Given the description of an element on the screen output the (x, y) to click on. 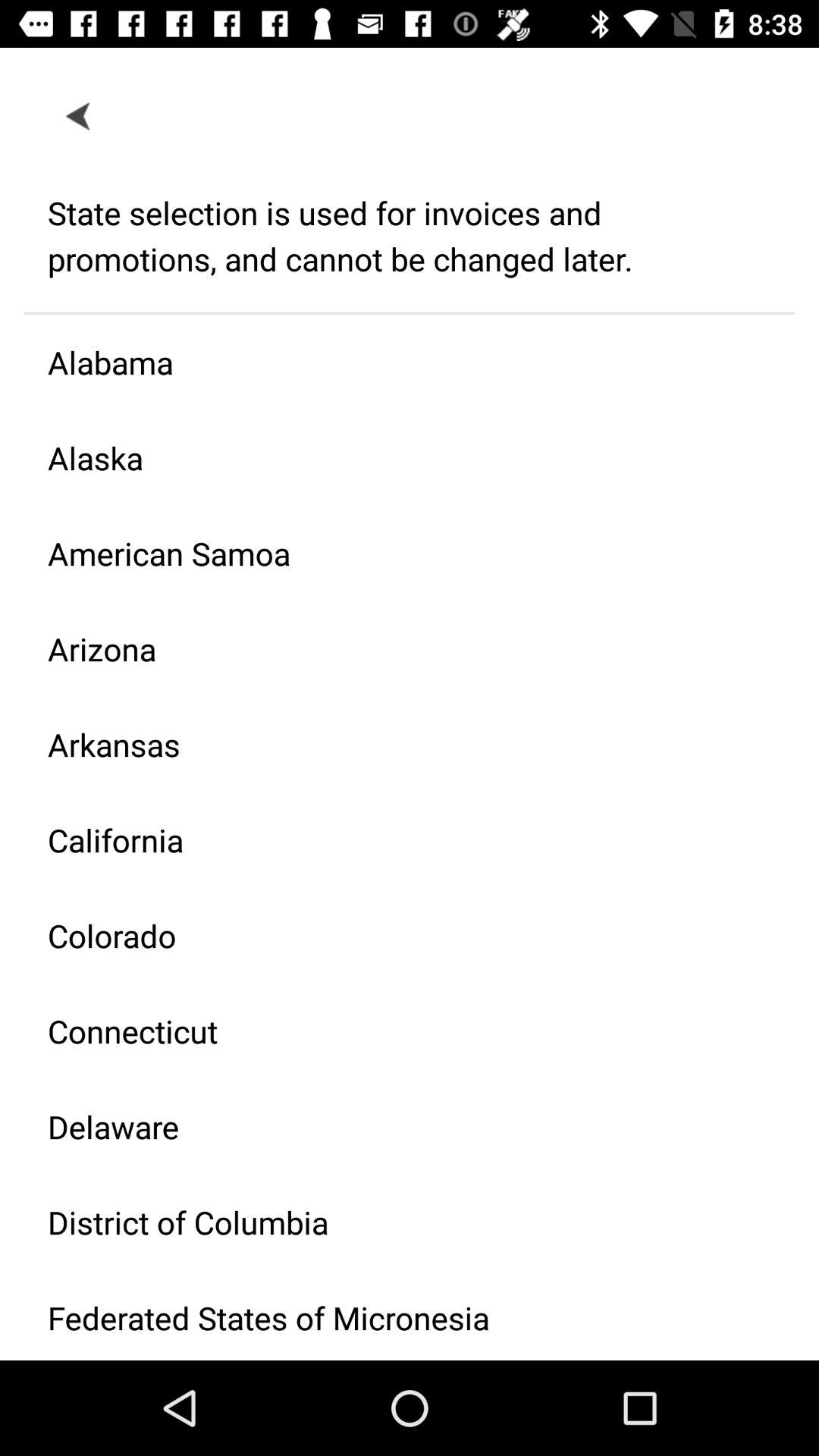
go back (79, 115)
